Given the description of an element on the screen output the (x, y) to click on. 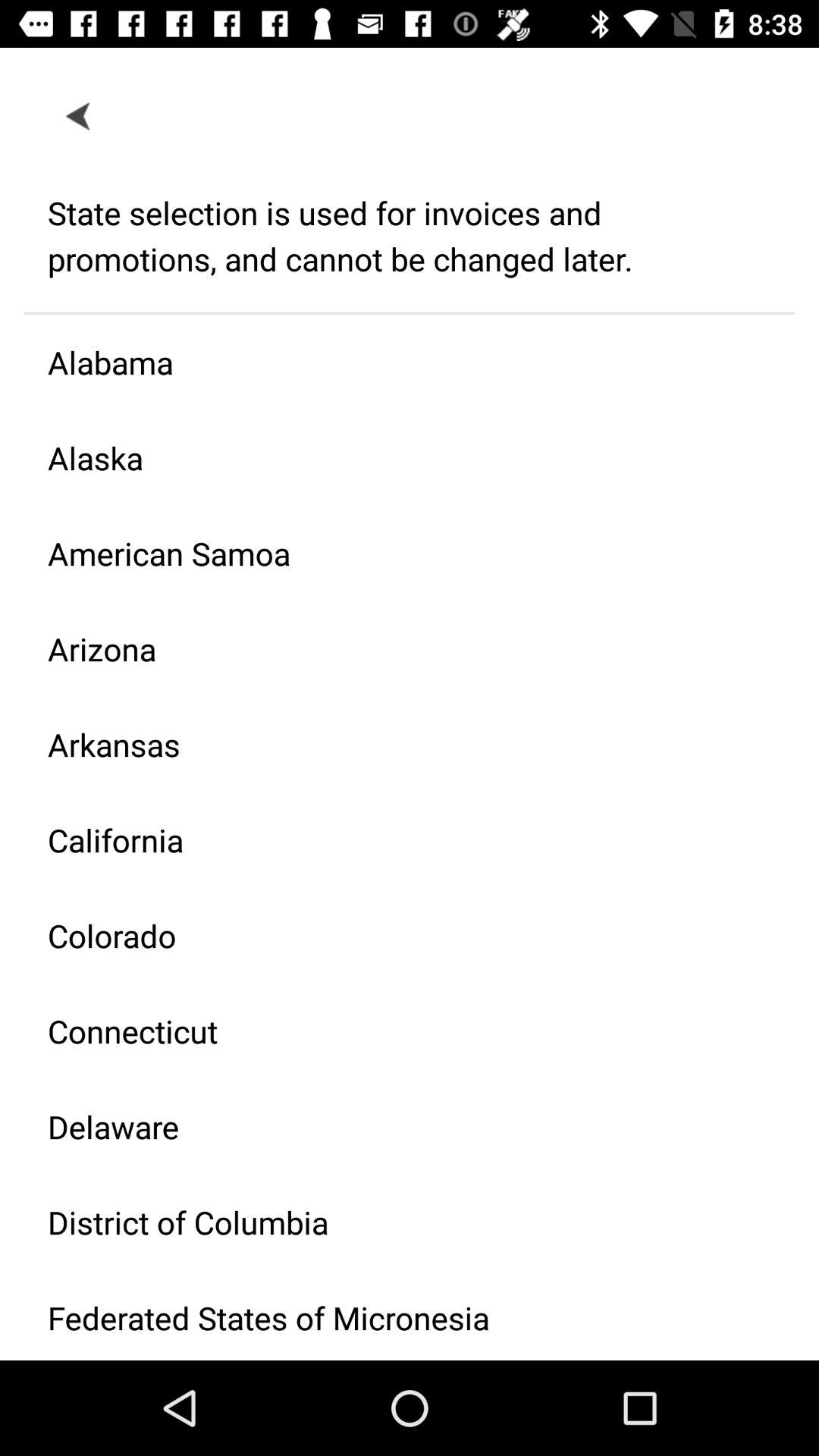
go back (79, 115)
